Given the description of an element on the screen output the (x, y) to click on. 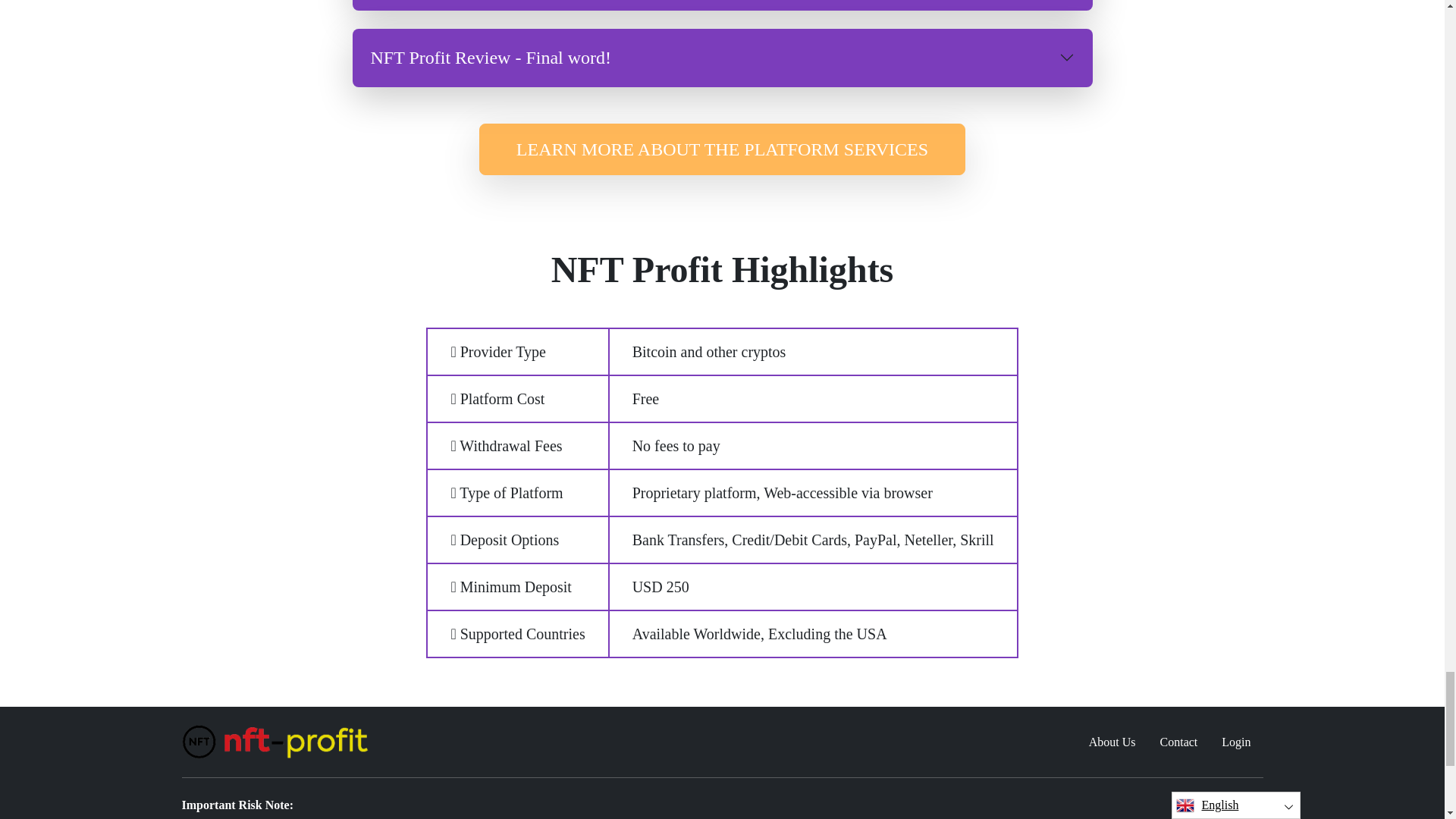
How do I trade stablecoins? (722, 5)
LEARN MORE ABOUT THE PLATFORM SERVICES (722, 149)
NFT Profit Review - Final word! (722, 57)
About Us (1112, 742)
Contact (1178, 742)
Login (1235, 742)
